Given the description of an element on the screen output the (x, y) to click on. 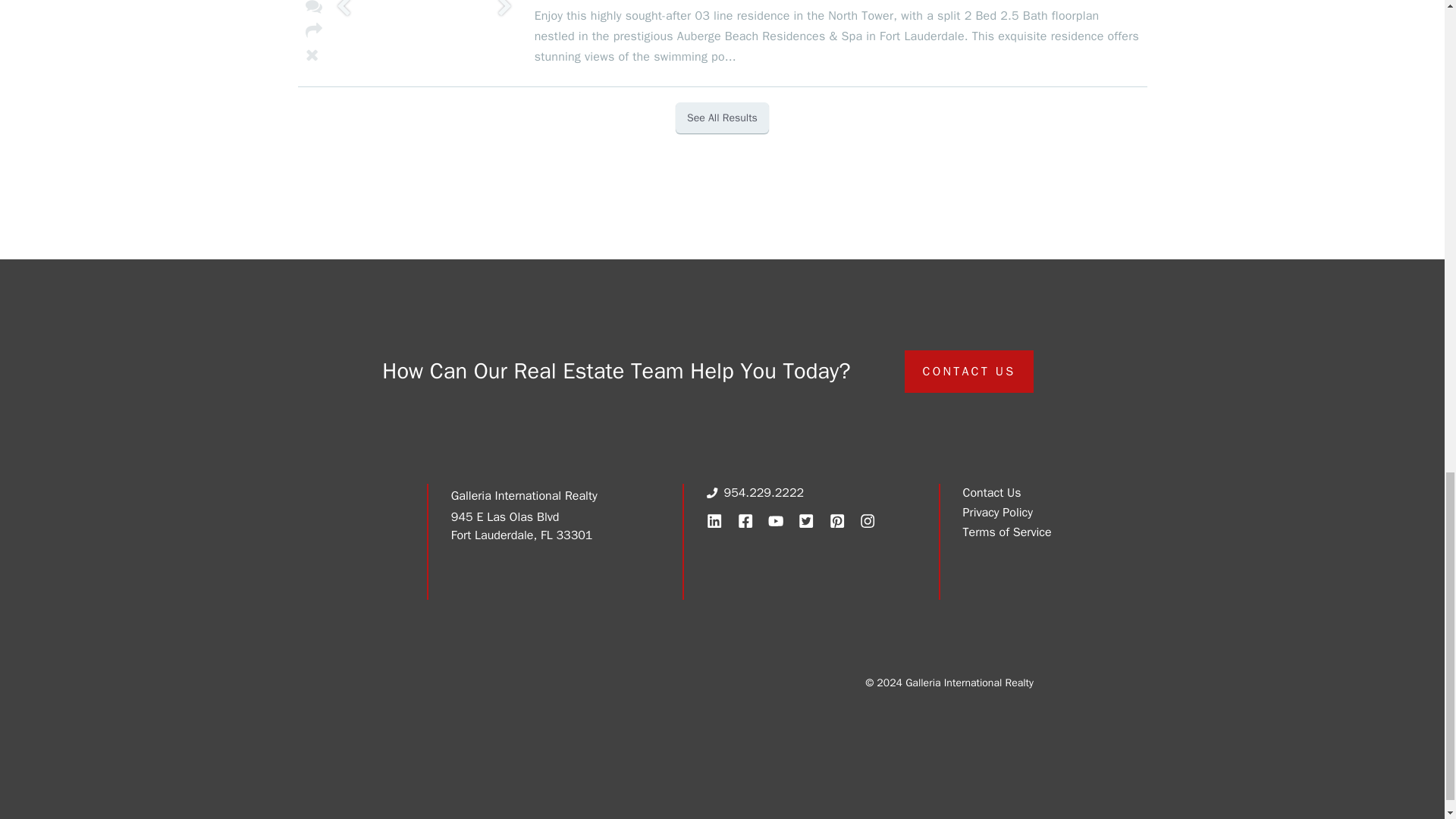
CONTACT US (968, 371)
Terms of Service (1006, 532)
954.229.2222 (764, 492)
Contact Us (992, 493)
Privacy Policy (997, 512)
2200 N Ocean Blvd (738, 35)
See All Results (721, 117)
